Given the description of an element on the screen output the (x, y) to click on. 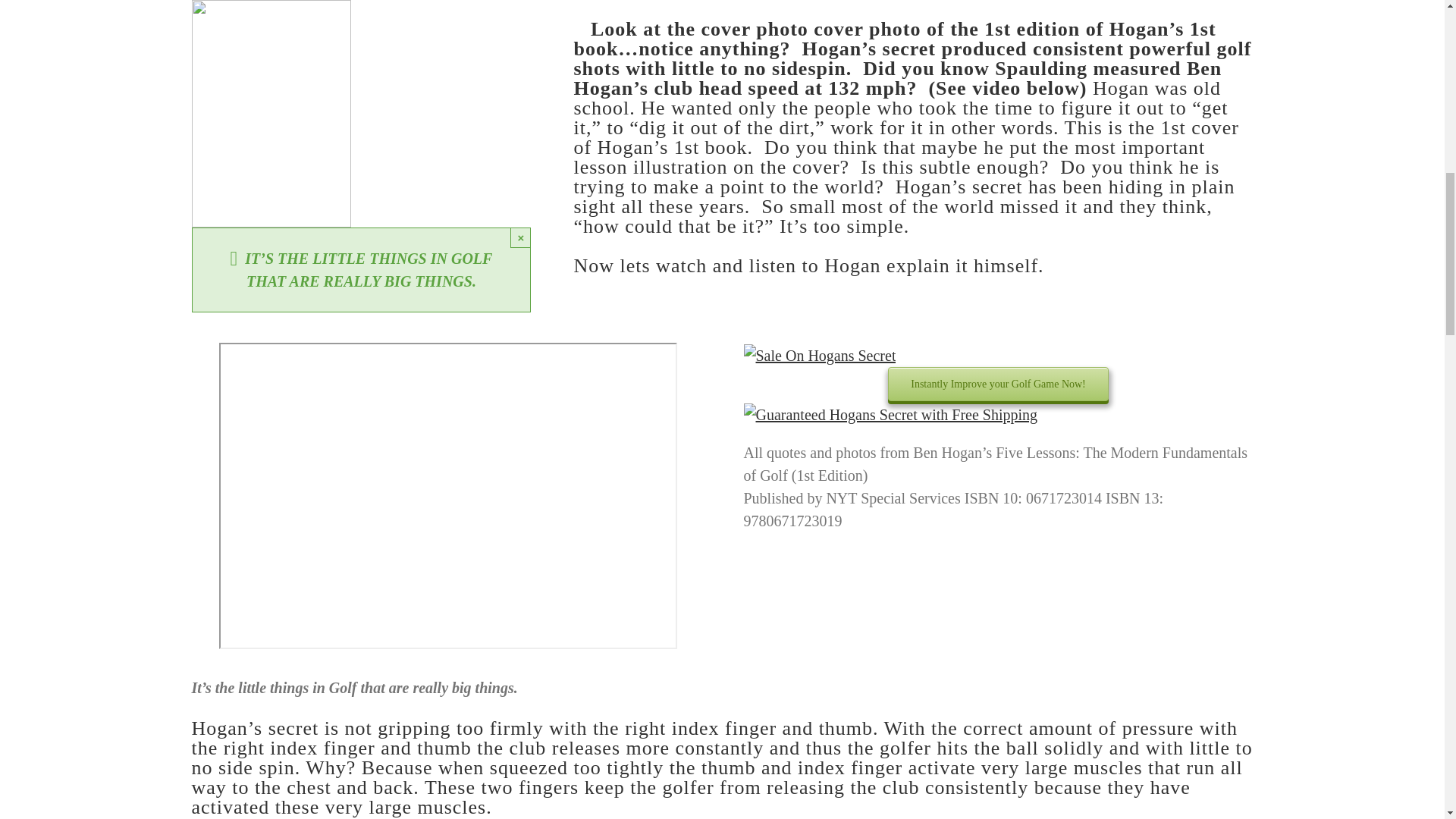
Instantly Improve your Golf Game Now! (998, 383)
Instantly Improve your Golf Game Now! (998, 383)
